Given the description of an element on the screen output the (x, y) to click on. 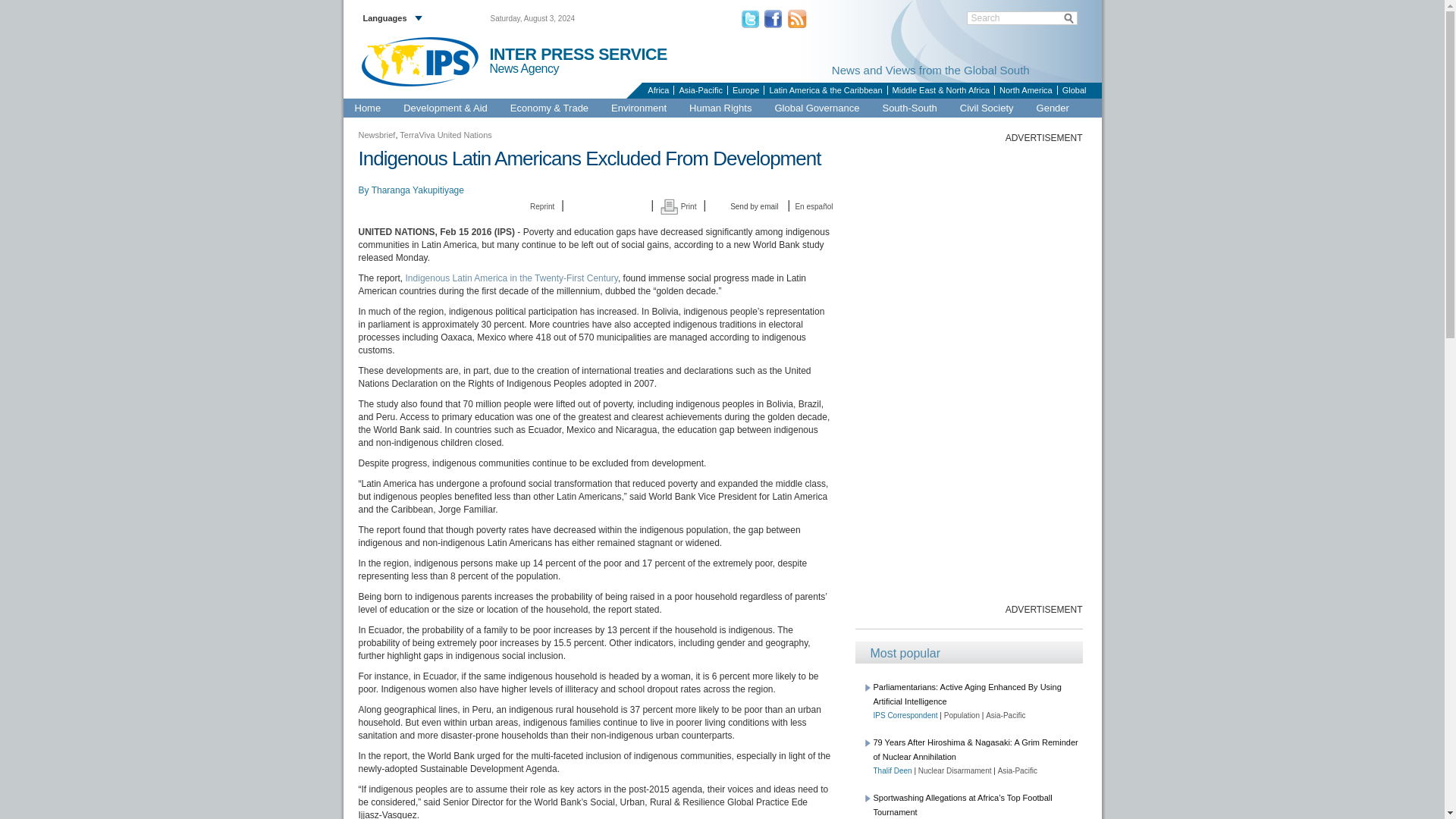
Global (1073, 90)
North America (1025, 90)
Search (1022, 18)
News Agency (531, 69)
Posts by Thalif Deen (892, 770)
INTER PRESS SERVICE (577, 54)
Advertisement (969, 371)
Asia-Pacific (699, 90)
Posts by Tharanga Yakupitiyage (417, 190)
Posts by IPS Correspondent (905, 715)
Home (366, 107)
Europe (744, 90)
Africa (657, 90)
